Given the description of an element on the screen output the (x, y) to click on. 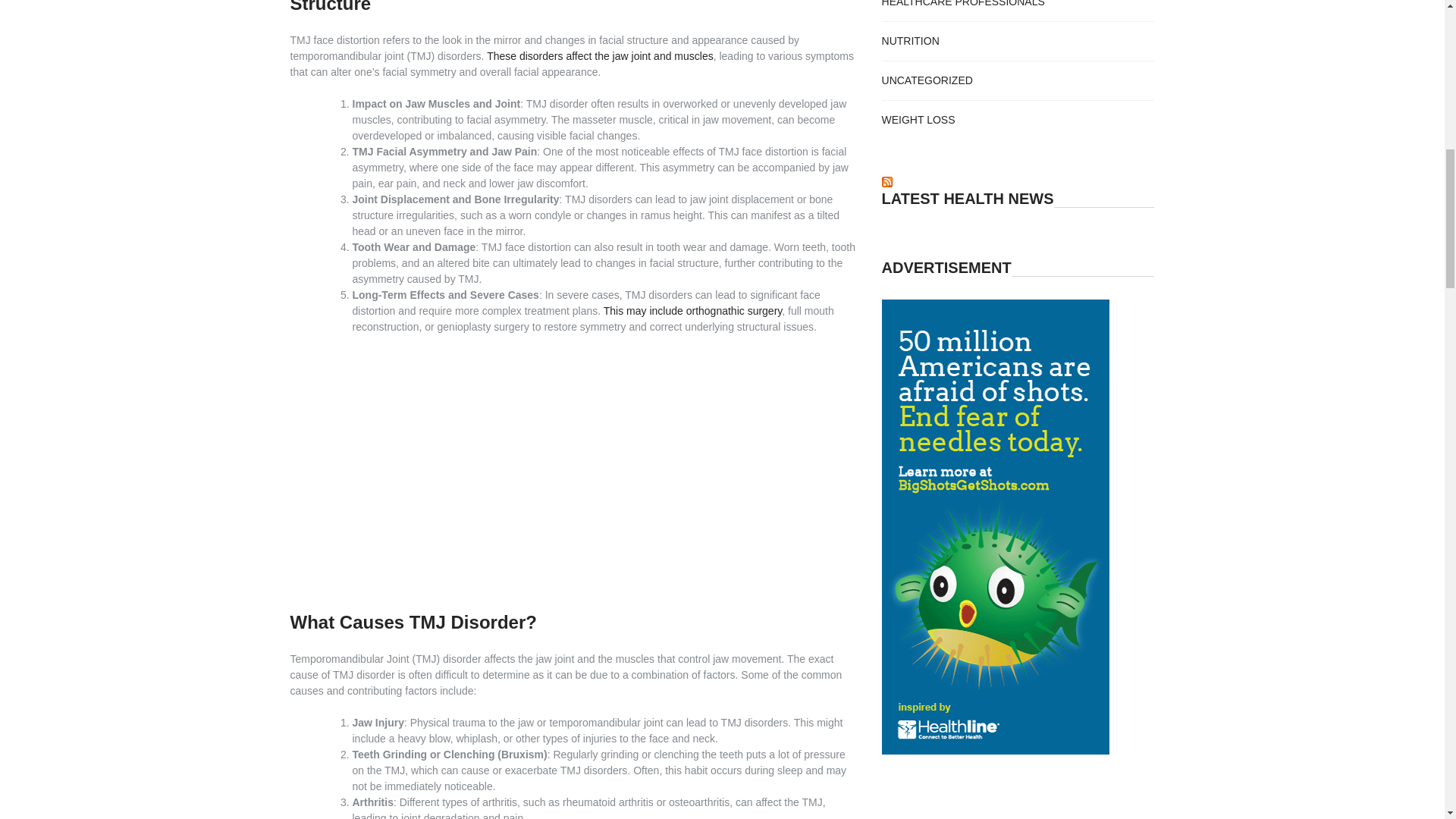
YouTube video player (574, 470)
NUTRITION (910, 40)
Weight Loss blogs (918, 119)
Blogs about nutrition and healthy eating. (910, 40)
UNCATEGORIZED (927, 80)
HEALTHCARE PROFESSIONALS (963, 3)
These disorders affect the jaw joint and muscles (599, 55)
This may include orthognathic surgery (693, 310)
